Given the description of an element on the screen output the (x, y) to click on. 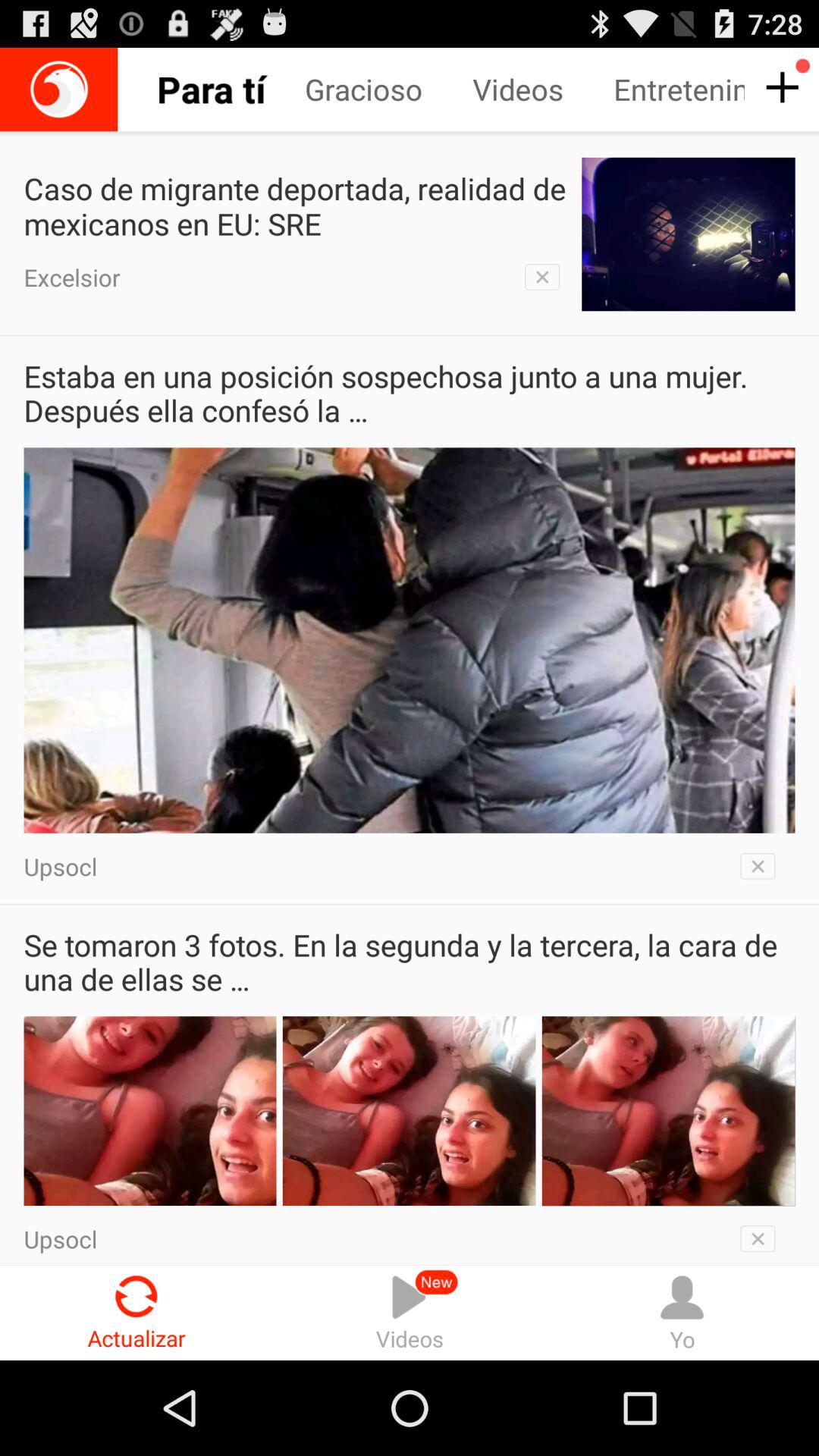
press actualizar icon (136, 1312)
